Given the description of an element on the screen output the (x, y) to click on. 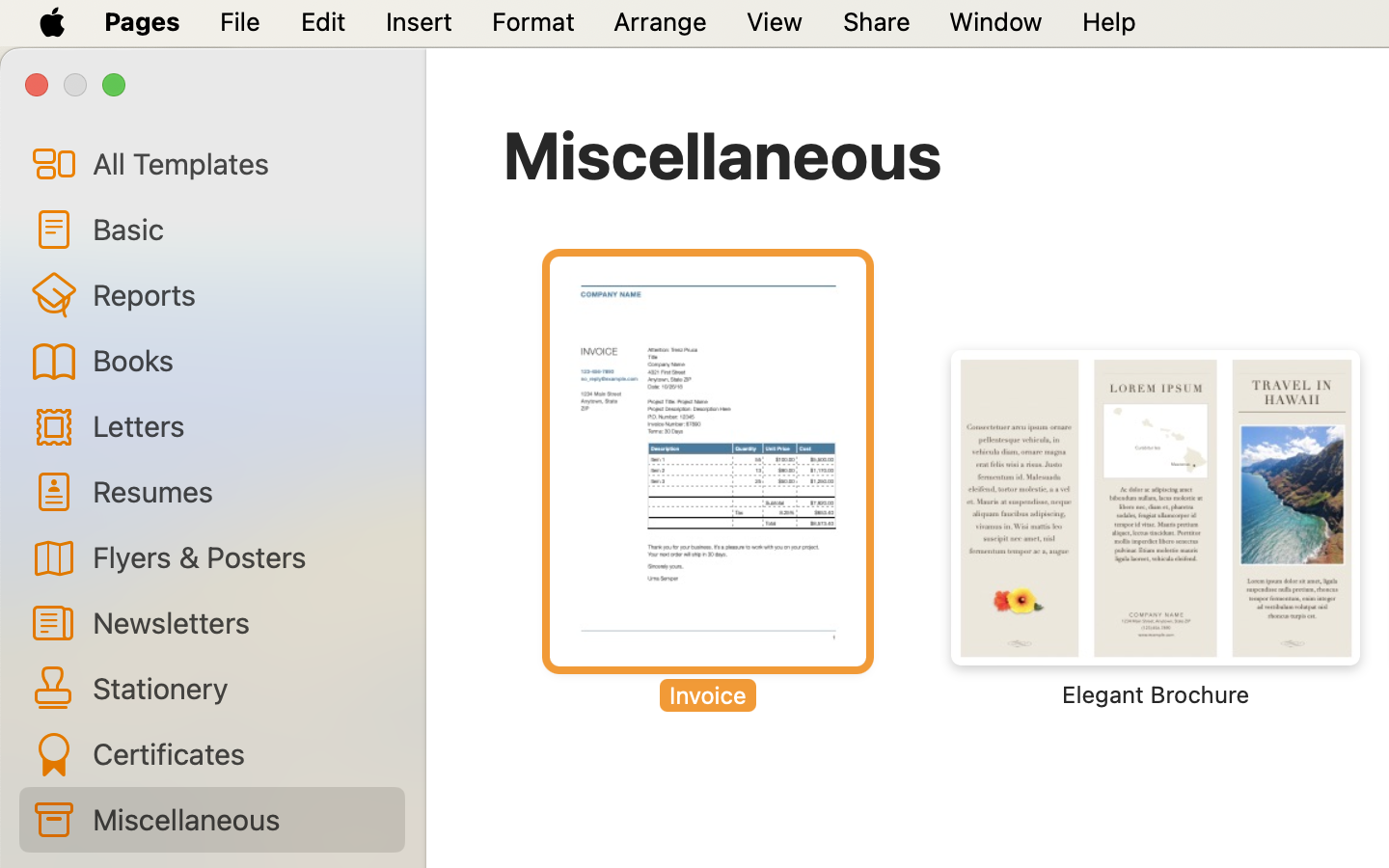
Books Element type: AXStaticText (240, 359)
‎⁨Elegant Brochure⁩ Element type: AXButton (1155, 528)
Stationery Element type: AXStaticText (240, 687)
Certificates Element type: AXStaticText (240, 752)
All Templates Element type: AXStaticText (240, 162)
